Given the description of an element on the screen output the (x, y) to click on. 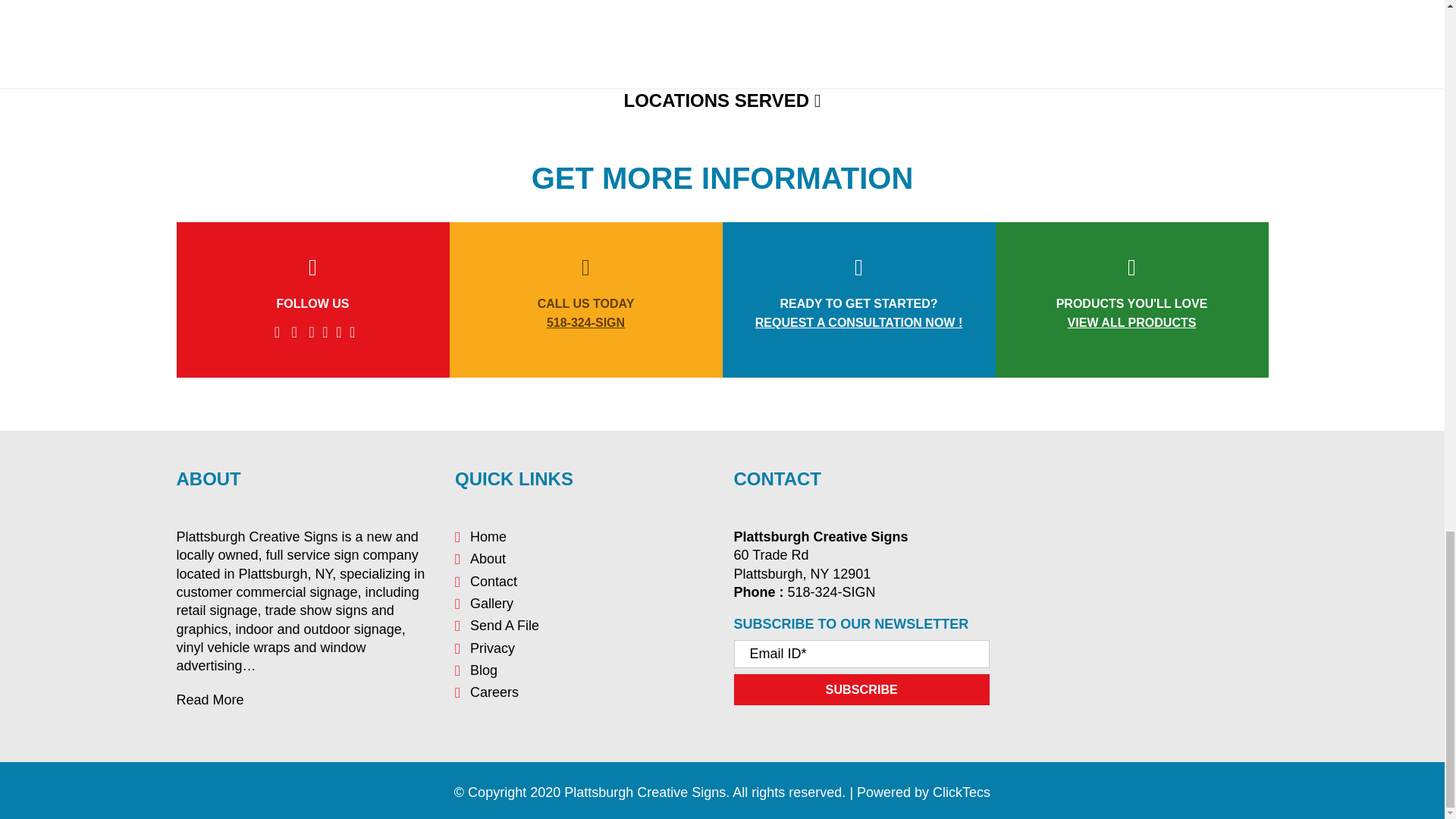
Subscribe (861, 689)
Iframe of Google map (355, 18)
Contact us map (1139, 578)
